Given the description of an element on the screen output the (x, y) to click on. 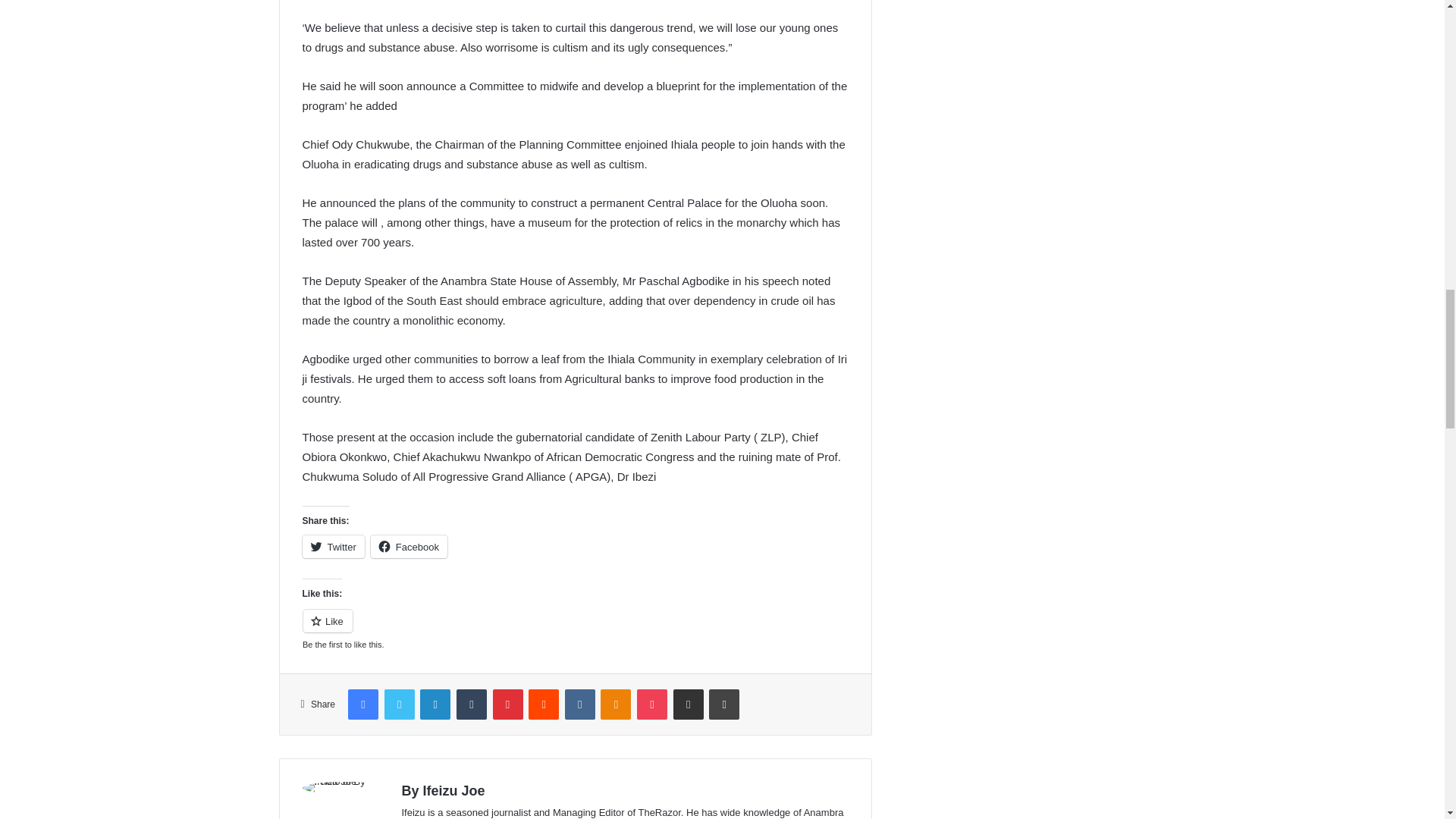
Facebook (408, 546)
Click to share on Twitter (332, 546)
Twitter (332, 546)
